Given the description of an element on the screen output the (x, y) to click on. 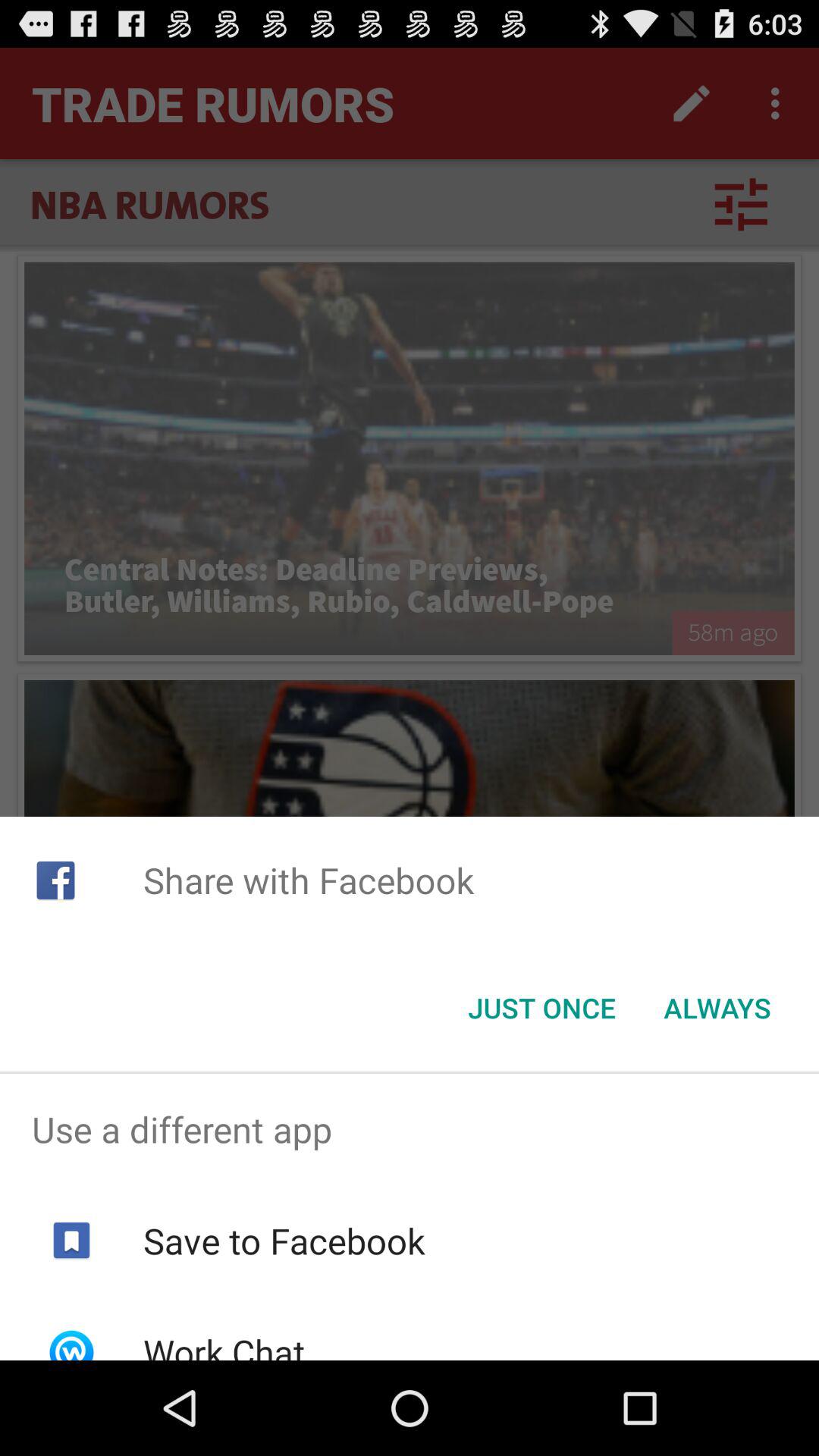
tap the icon next to just once icon (717, 1007)
